Given the description of an element on the screen output the (x, y) to click on. 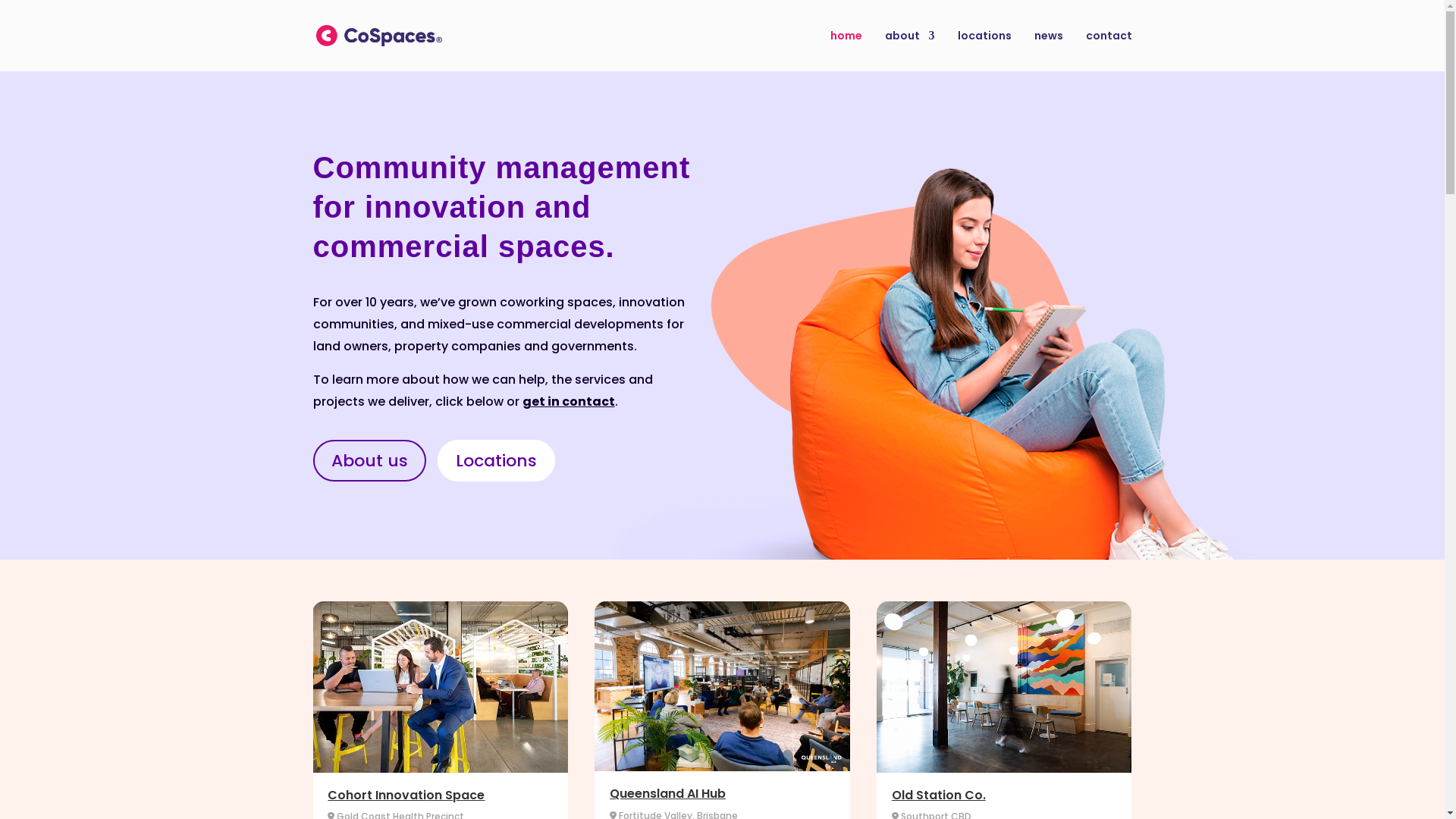
about Element type: text (909, 50)
home Element type: text (845, 50)
About us Element type: text (368, 460)
contact Element type: text (1108, 50)
news Element type: text (1048, 50)
get in contact Element type: text (567, 401)
Locations Element type: text (495, 460)
locations Element type: text (983, 50)
